Given the description of an element on the screen output the (x, y) to click on. 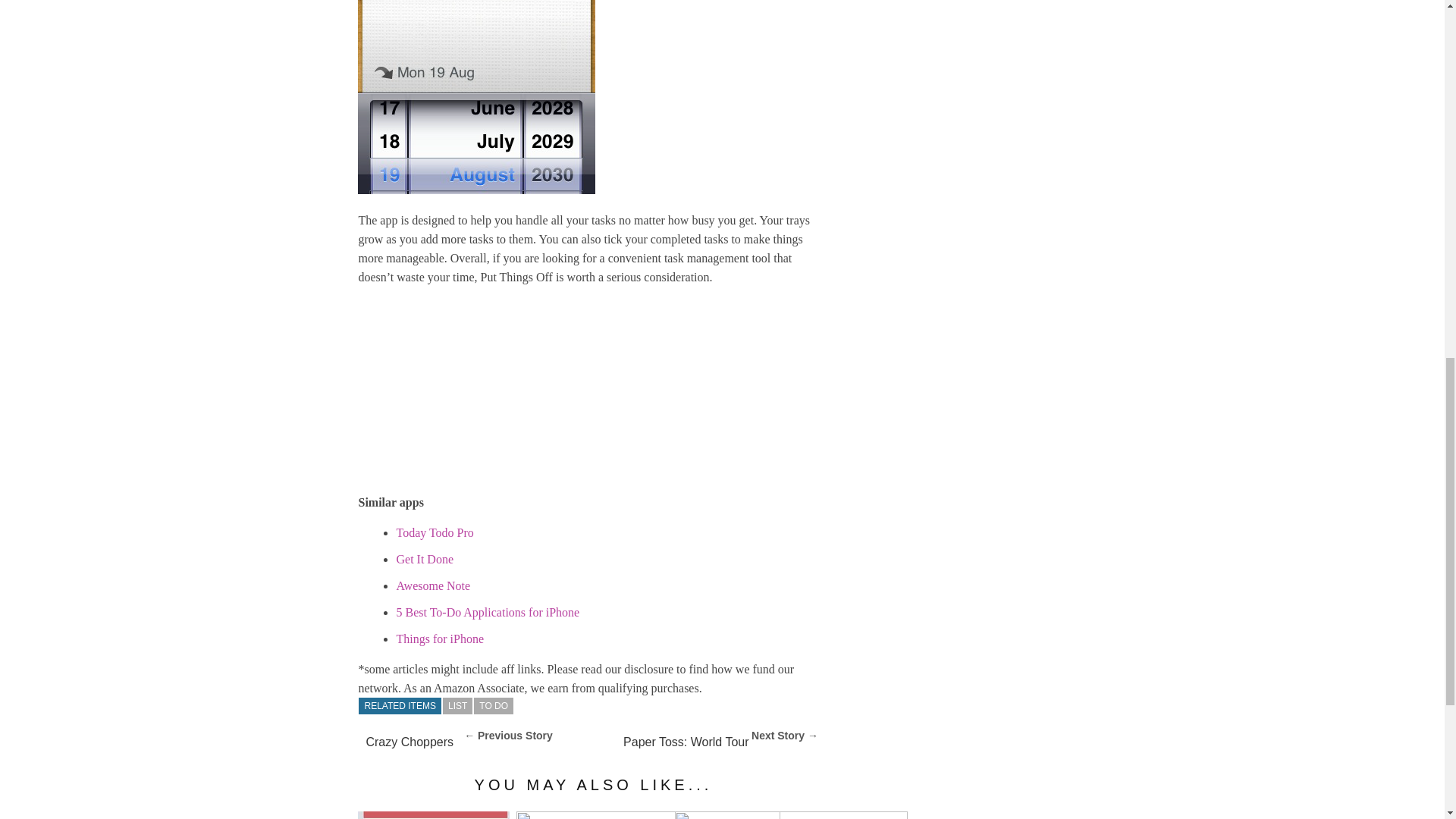
Get It Done (424, 558)
Awesome Note (433, 585)
5 Best To-Do Applications for iPhone (487, 612)
Today Todo Pro (434, 532)
